Given the description of an element on the screen output the (x, y) to click on. 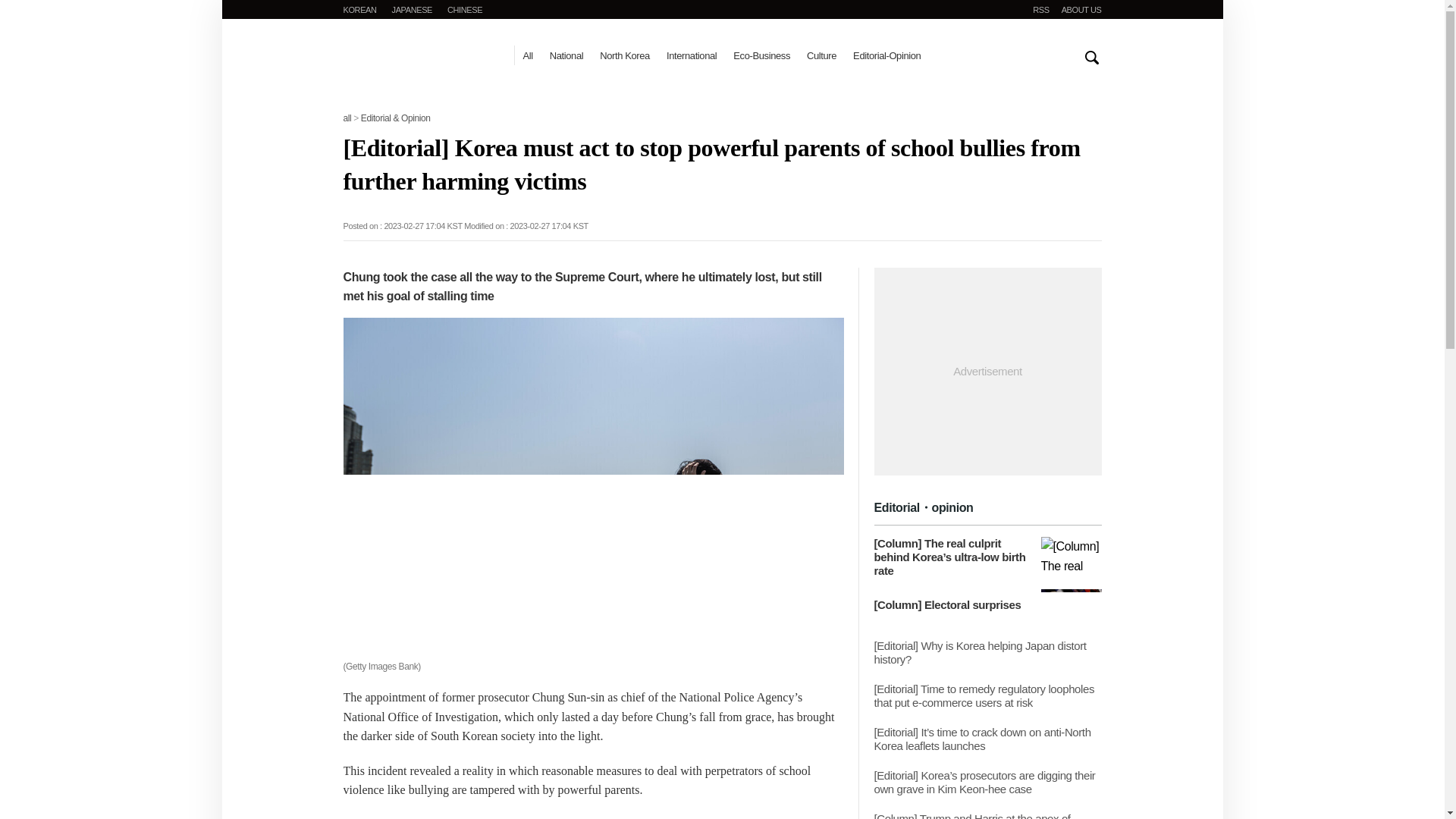
ABOUT US (1081, 9)
JAPANESE (411, 9)
CHINESE (463, 9)
North Korea (624, 55)
National (566, 55)
Eco-Business (761, 55)
Editorial-Opinion (886, 55)
KOREAN (358, 9)
International (691, 55)
Culture (820, 55)
hankyoreh (419, 60)
